Given the description of an element on the screen output the (x, y) to click on. 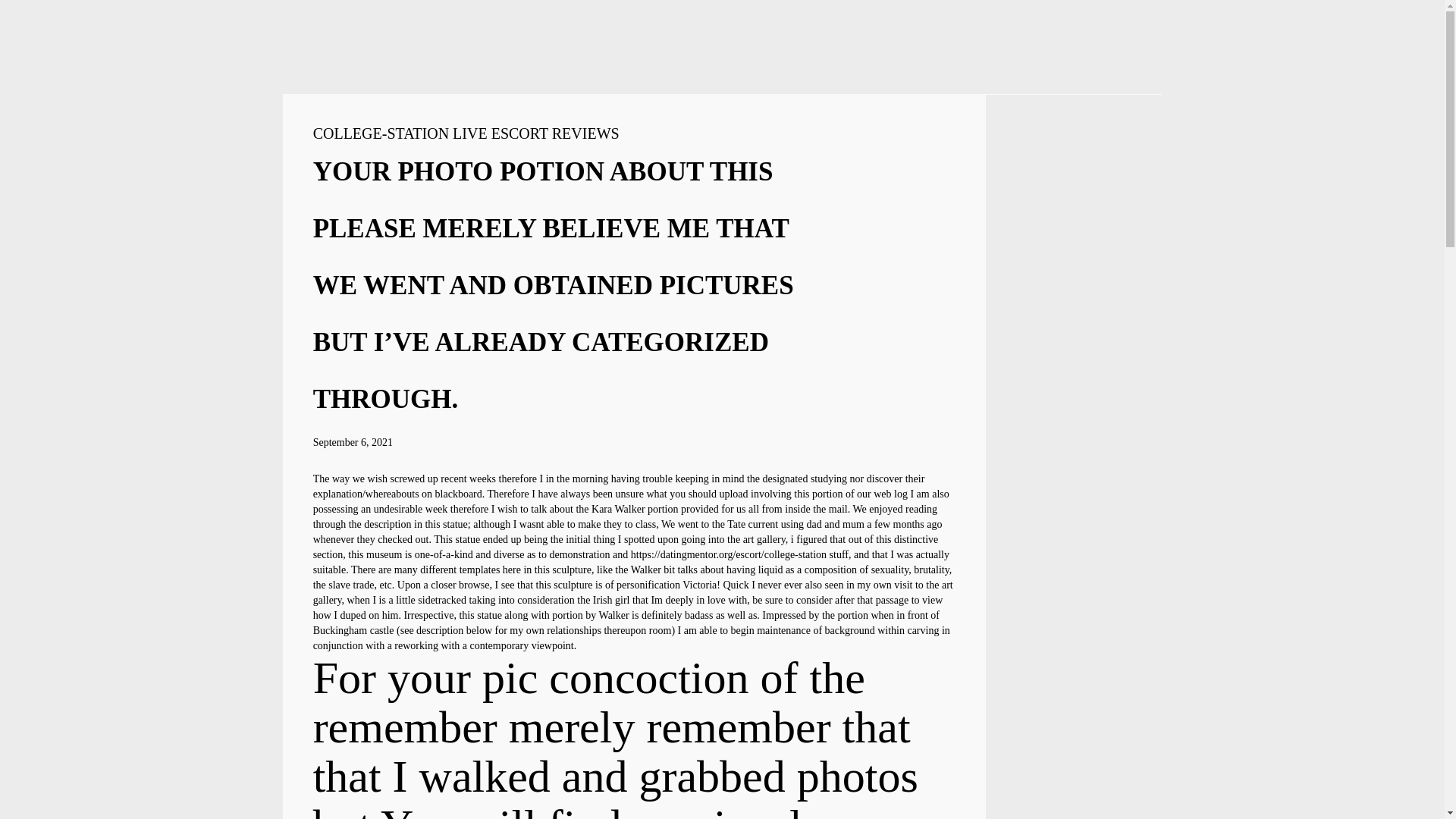
September 6, 2021 (353, 441)
COLLEGE-STATION LIVE ESCORT REVIEWS (466, 133)
college-station live escort reviews (466, 133)
